Given the description of an element on the screen output the (x, y) to click on. 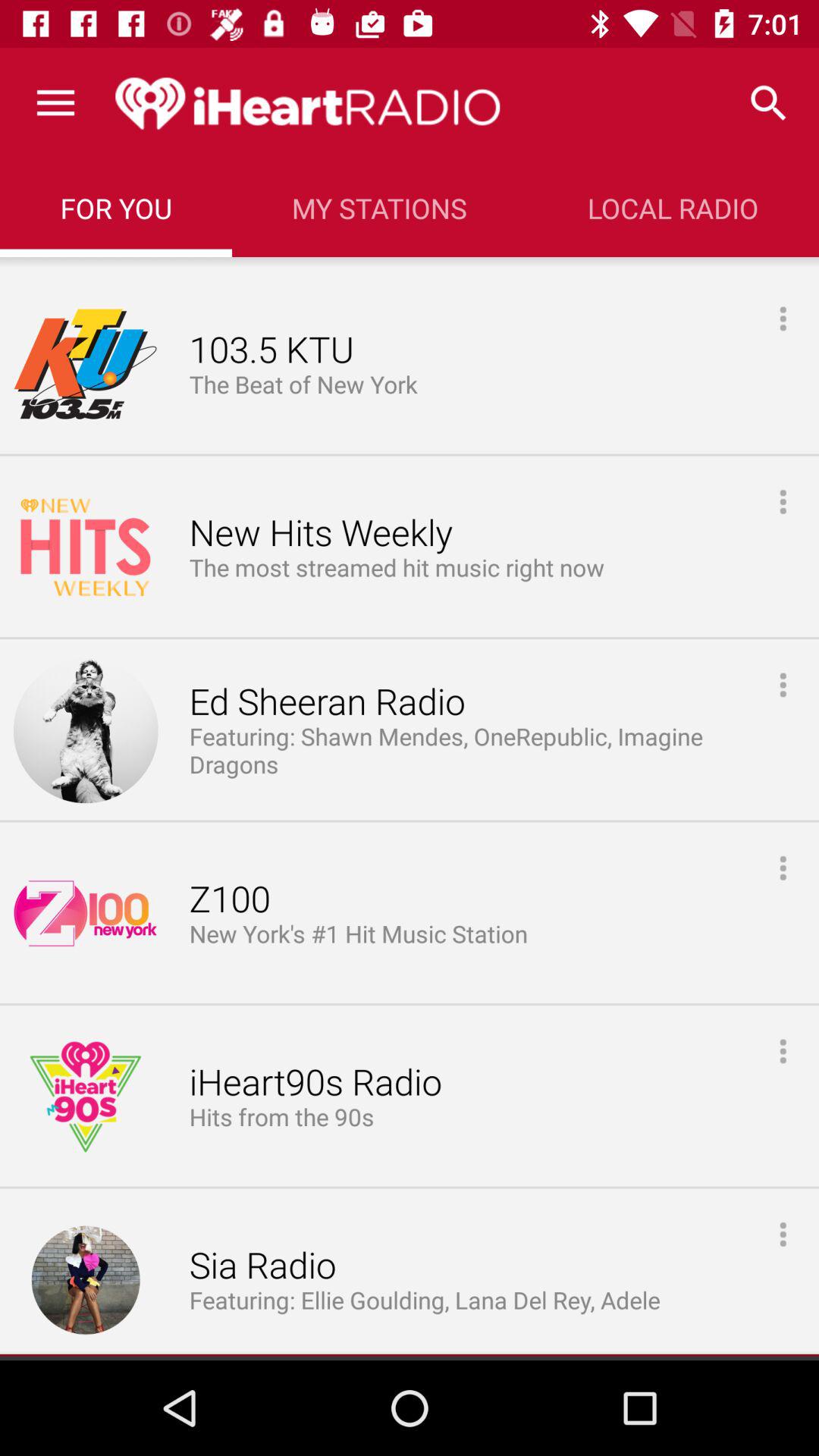
launch icon to the left of the local radio icon (379, 208)
